Given the description of an element on the screen output the (x, y) to click on. 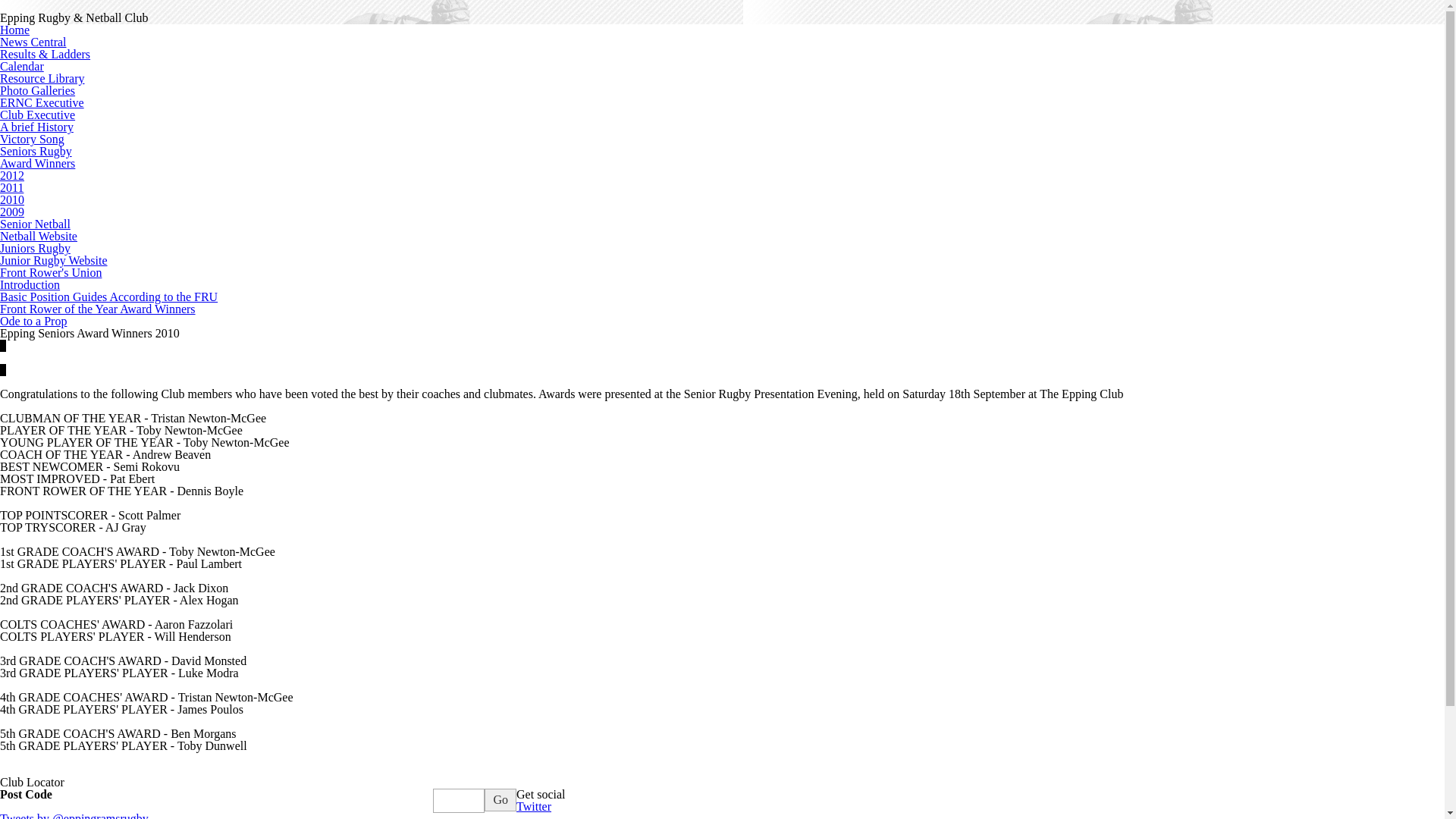
2009 Element type: text (12, 211)
Basic Position Guides According to the FRU Element type: text (108, 296)
A brief History Element type: text (36, 126)
Netball Website Element type: text (38, 235)
ERNC Executive Element type: text (42, 102)
Introduction Element type: text (29, 284)
Award Winners Element type: text (37, 162)
Junior Rugby Website Element type: text (53, 260)
2012 Element type: text (12, 175)
2010 Element type: text (12, 199)
Go Element type: text (500, 799)
Results & Ladders Element type: text (45, 53)
Juniors Rugby Element type: text (35, 247)
Senior Netball Element type: text (35, 223)
Resource Library Element type: text (42, 78)
Ode to a Prop Element type: text (33, 320)
Home Element type: text (14, 29)
2011 Element type: text (11, 187)
Victory Song Element type: text (32, 138)
News Central Element type: text (33, 41)
Photo Galleries Element type: text (37, 90)
Calendar Element type: text (21, 65)
Front Rower's Union Element type: text (50, 272)
Seniors Rugby Element type: text (36, 150)
Twitter Element type: text (533, 806)
Front Rower of the Year Award Winners Element type: text (97, 308)
Club Executive Element type: text (37, 114)
